Given the description of an element on the screen output the (x, y) to click on. 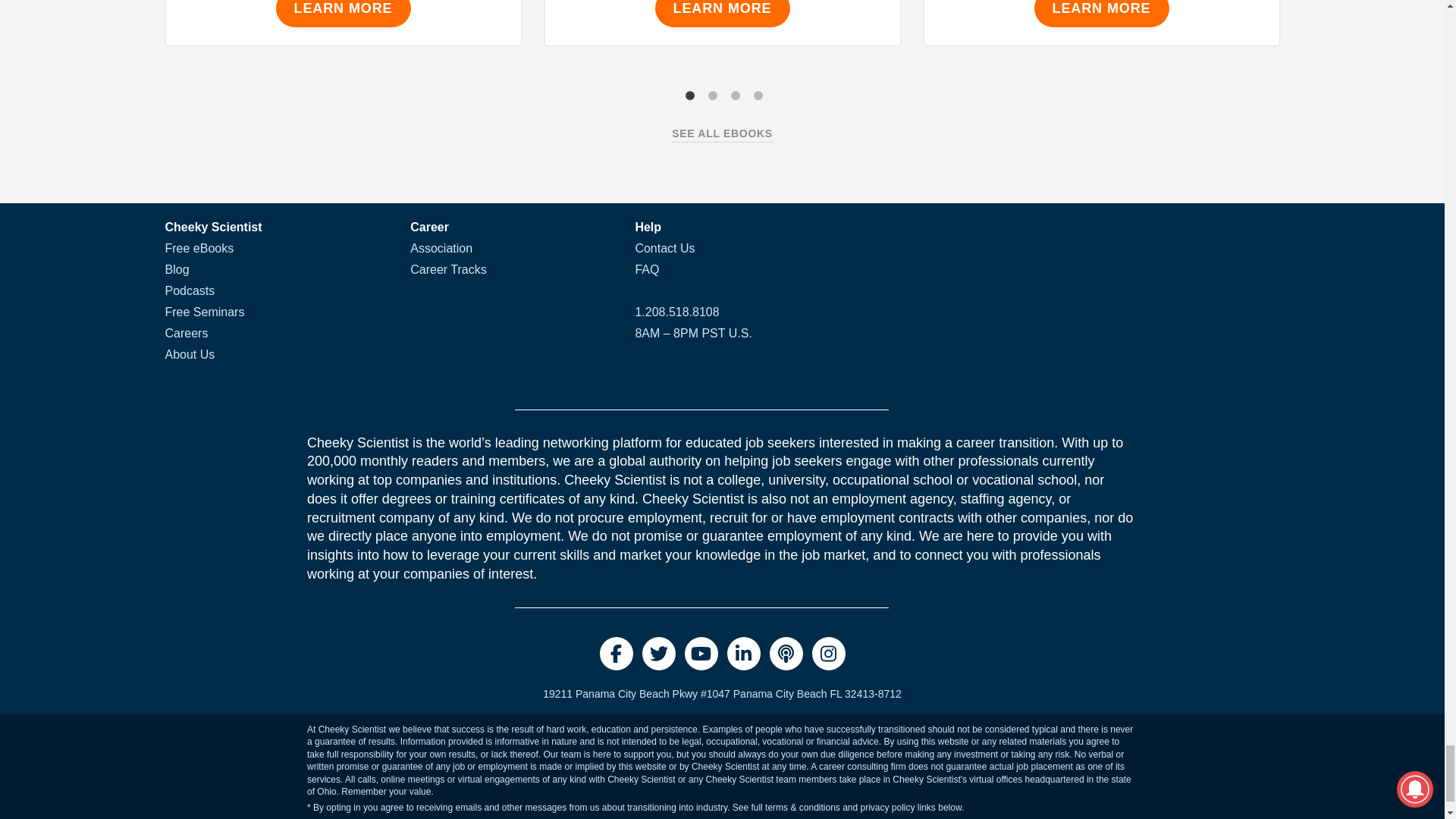
Cheeky Scientist on LinkedIn (743, 653)
Cheeky Scientist on Youtube (700, 653)
Cheeky Scientist on Facebook (614, 653)
Cheeky Scientist on Instagram (827, 653)
Cheeky Scientist on Twitter (658, 653)
